Given the description of an element on the screen output the (x, y) to click on. 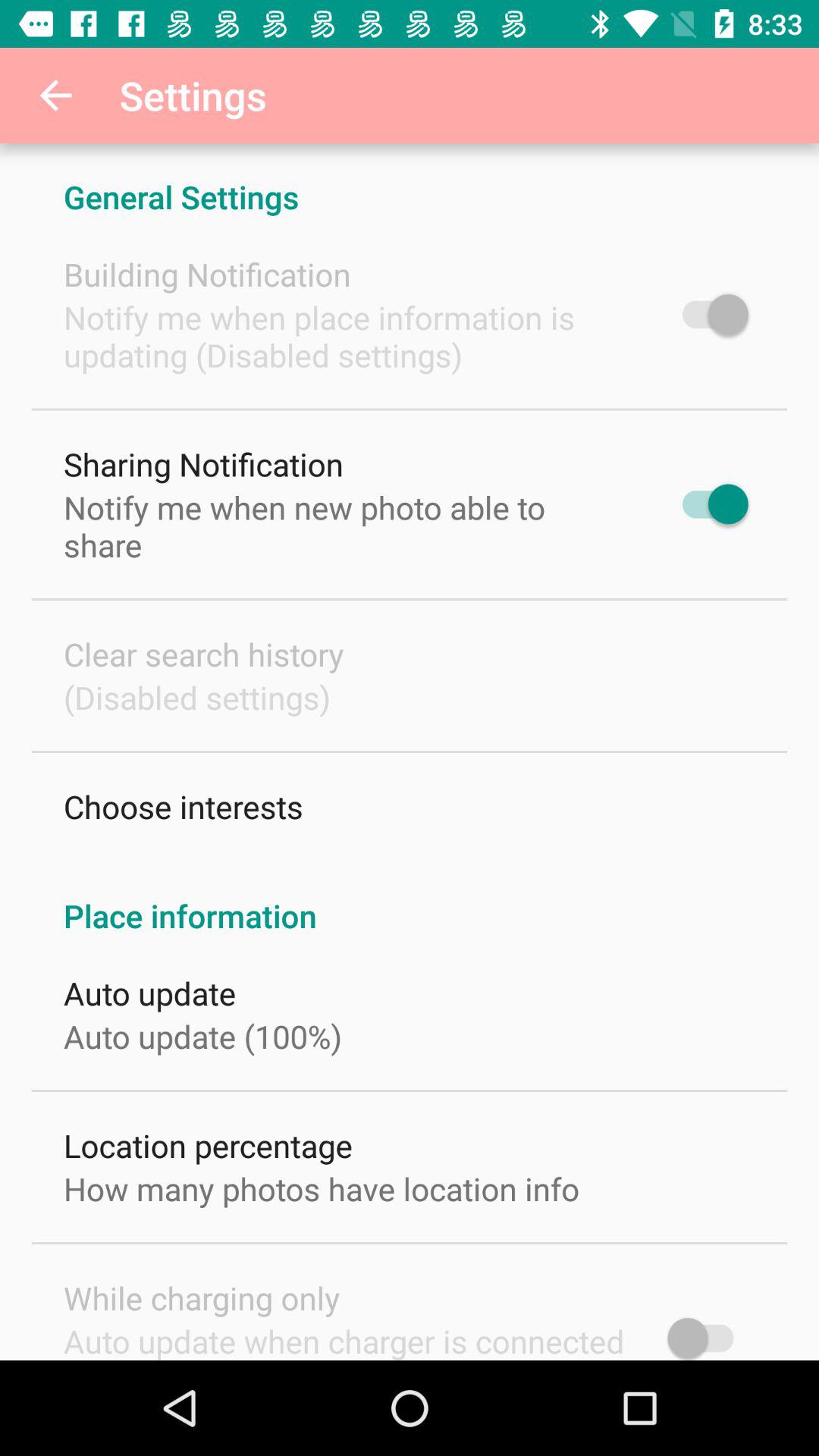
jump until the clear search history icon (203, 653)
